Given the description of an element on the screen output the (x, y) to click on. 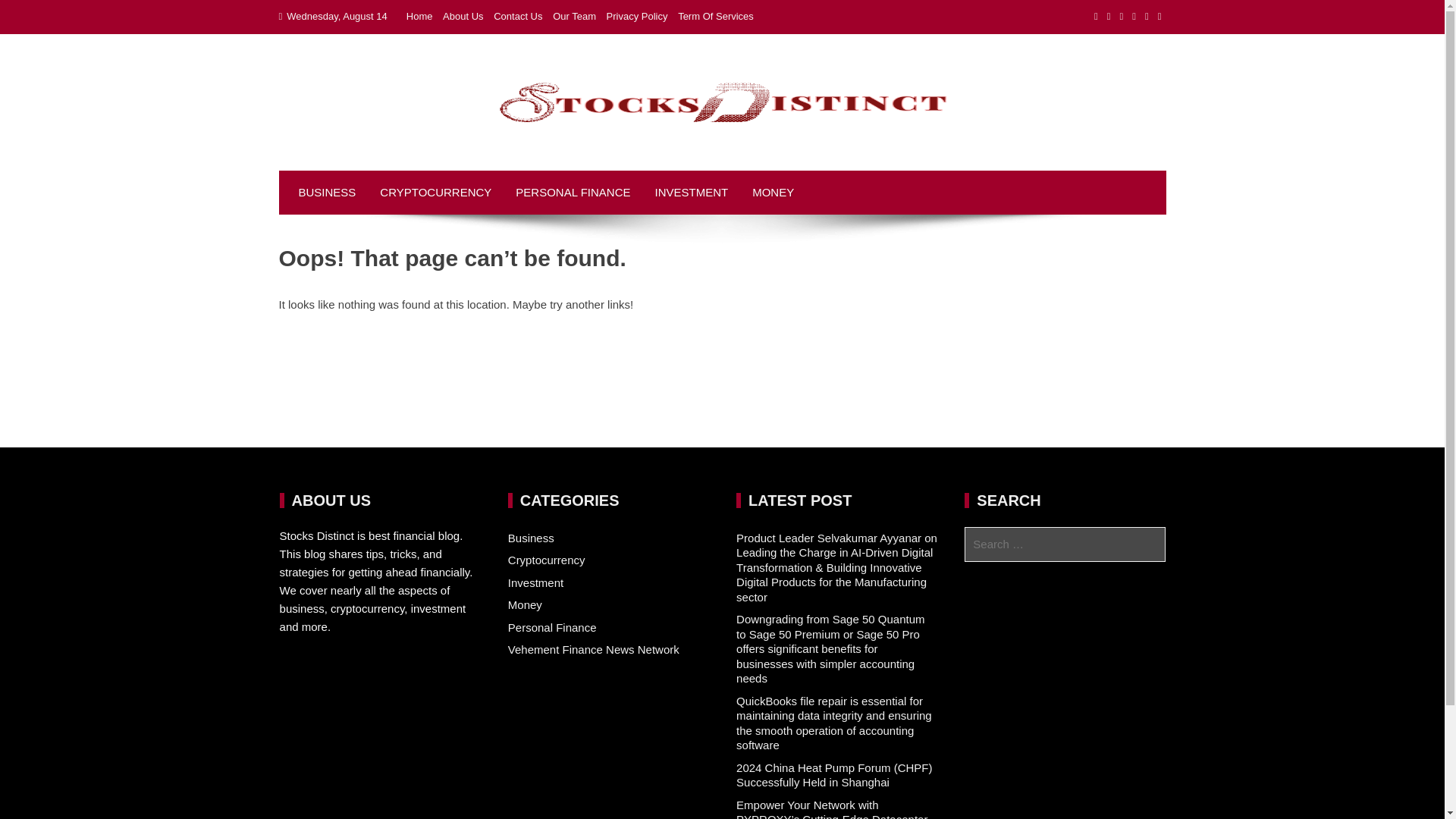
Privacy Policy (637, 16)
Business (531, 538)
CRYPTOCURRENCY (435, 192)
INVESTMENT (690, 192)
Home (419, 16)
BUSINESS (327, 192)
About Us (462, 16)
Vehement Finance News Network (593, 649)
Cryptocurrency (546, 560)
